Given the description of an element on the screen output the (x, y) to click on. 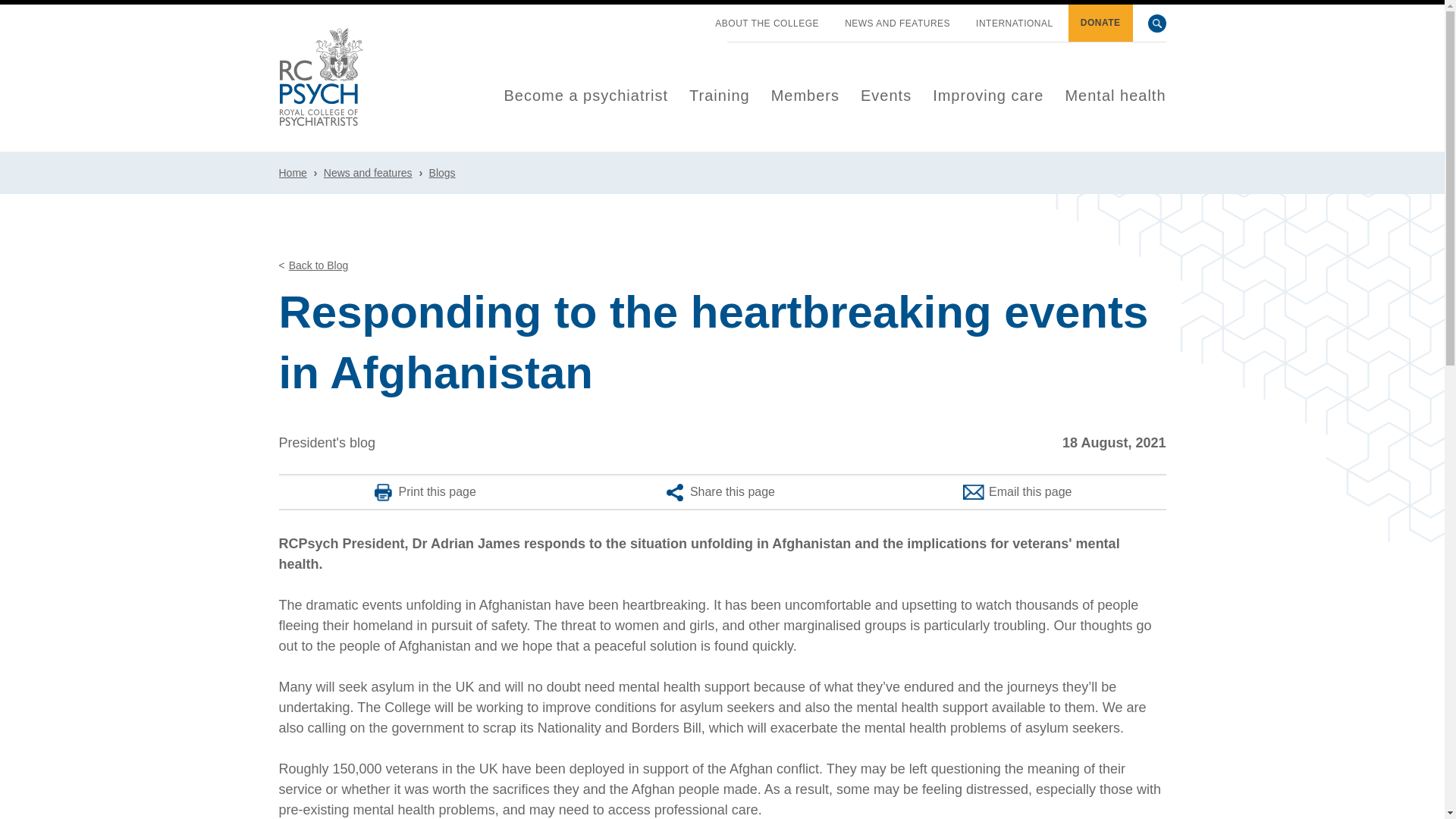
NEWS AND FEATURES (897, 23)
Search (1157, 23)
Become a psychiatrist (585, 96)
SKIP NAVIGATION (689, 17)
ABOUT THE COLLEGE (766, 23)
DONATE (1100, 22)
INTERNATIONAL (1014, 23)
